Given the description of an element on the screen output the (x, y) to click on. 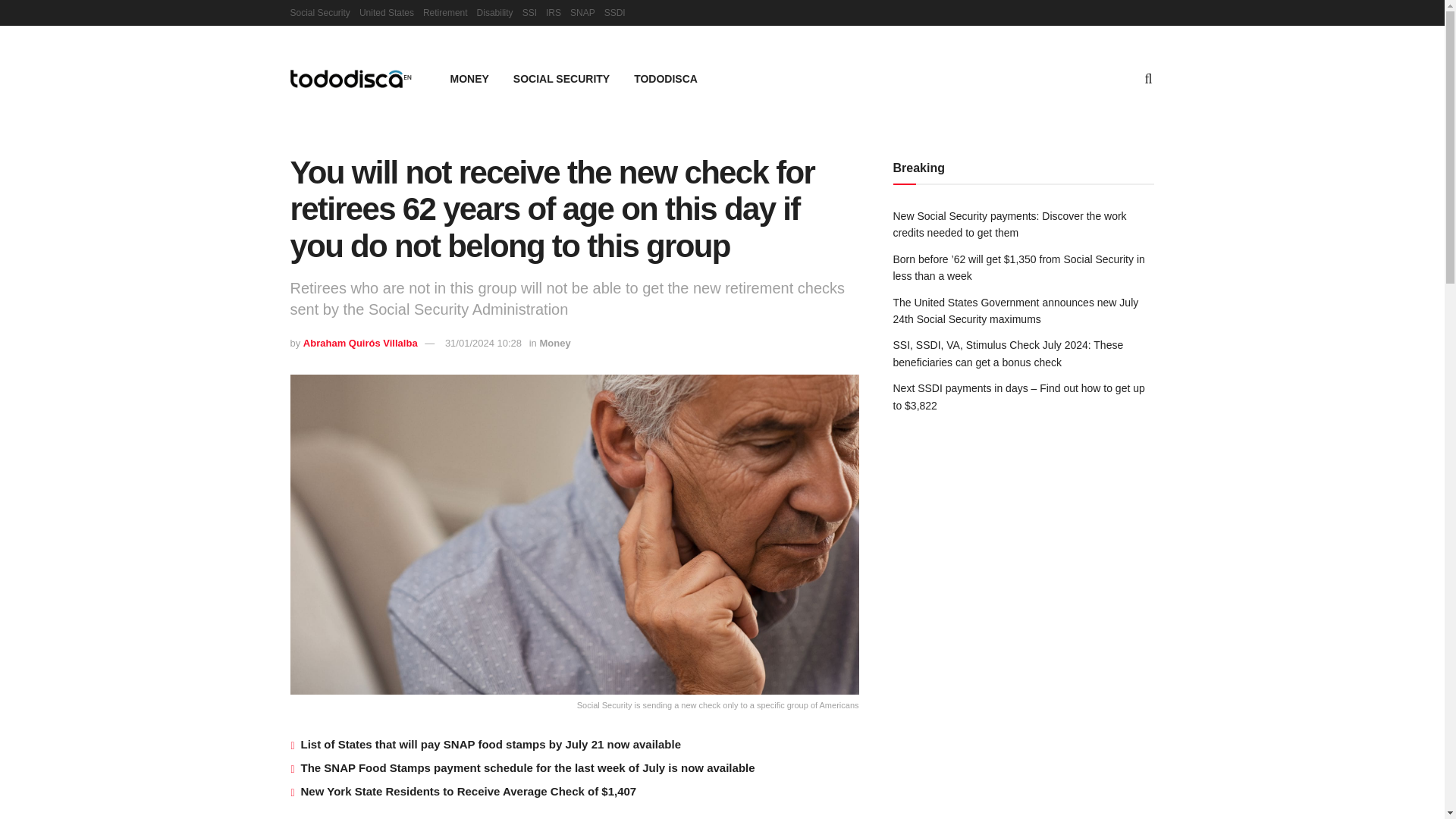
SNAP (582, 12)
MONEY (469, 78)
TODODISCA (665, 78)
SSI (529, 12)
Social Security (319, 12)
Retirement (445, 12)
United States (386, 12)
SSDI (615, 12)
Money (554, 342)
SOCIAL SECURITY (560, 78)
